Given the description of an element on the screen output the (x, y) to click on. 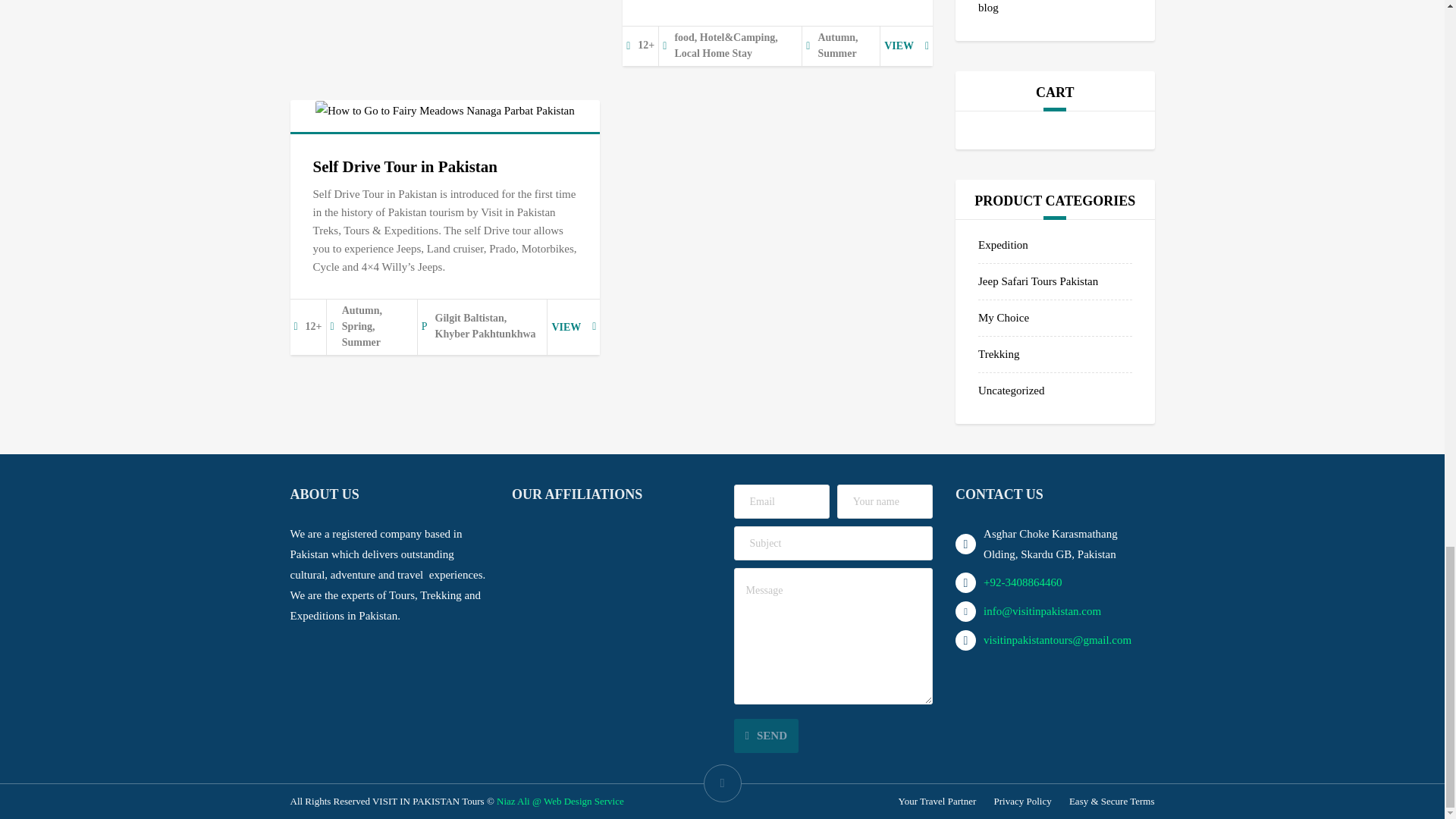
VIEW (573, 326)
Self Drive Tour in Pakistan (405, 167)
VIEW (905, 46)
